Given the description of an element on the screen output the (x, y) to click on. 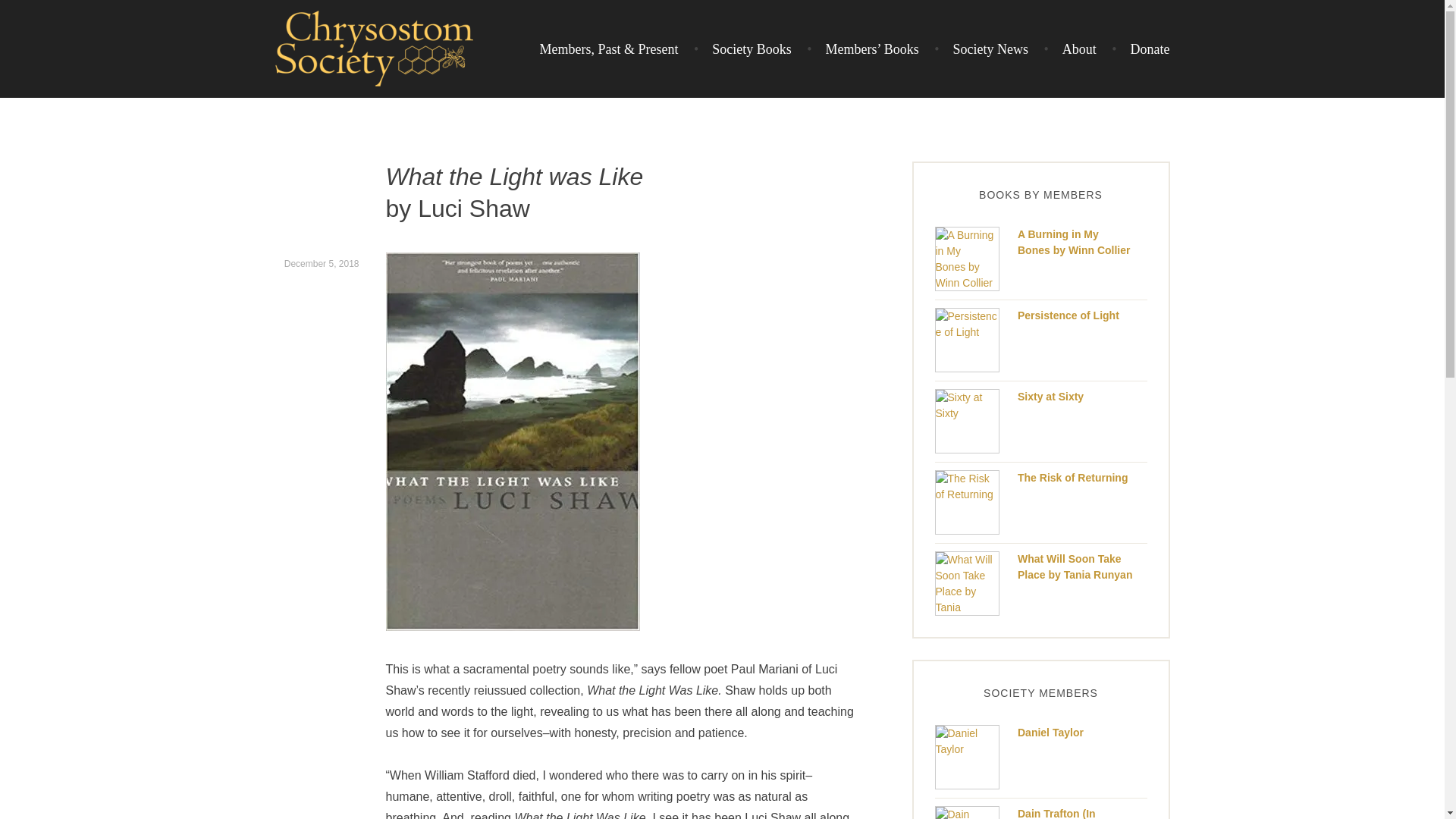
Sixty at Sixty (1050, 396)
Donate (1140, 49)
The Risk of Returning (1071, 477)
Society News (980, 49)
About (1069, 49)
A Burning in My Bones by Winn Collier (1073, 242)
CHRYSOSTOM SOCIETY (442, 114)
December 5, 2018 (321, 264)
What Will Soon Take Place by Tania Runyan (1074, 566)
Society Books (743, 49)
